Given the description of an element on the screen output the (x, y) to click on. 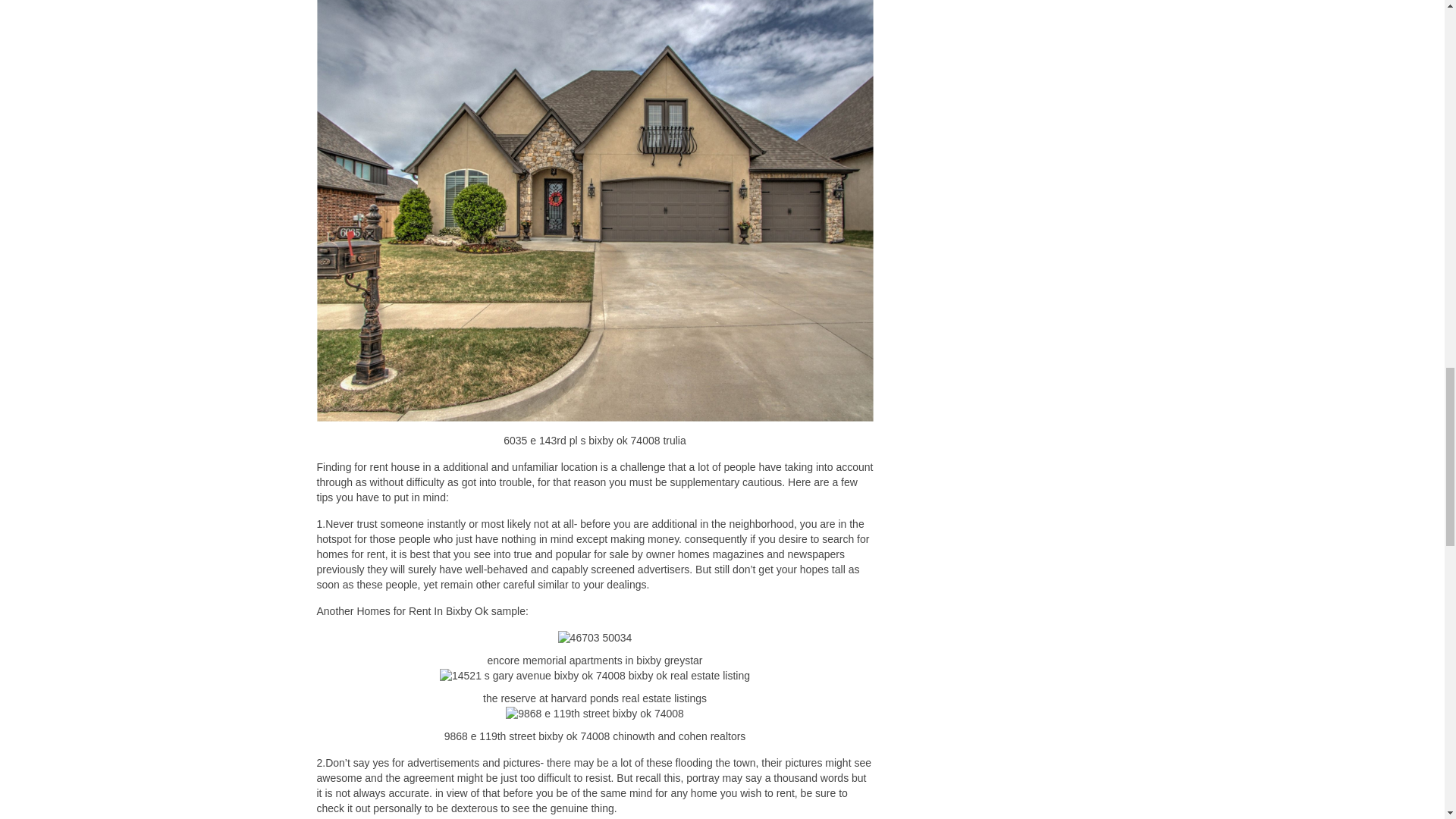
encore memorial apartments in bixby greystar (594, 638)
the reserve at harvard ponds real estate listings (594, 676)
